Given the description of an element on the screen output the (x, y) to click on. 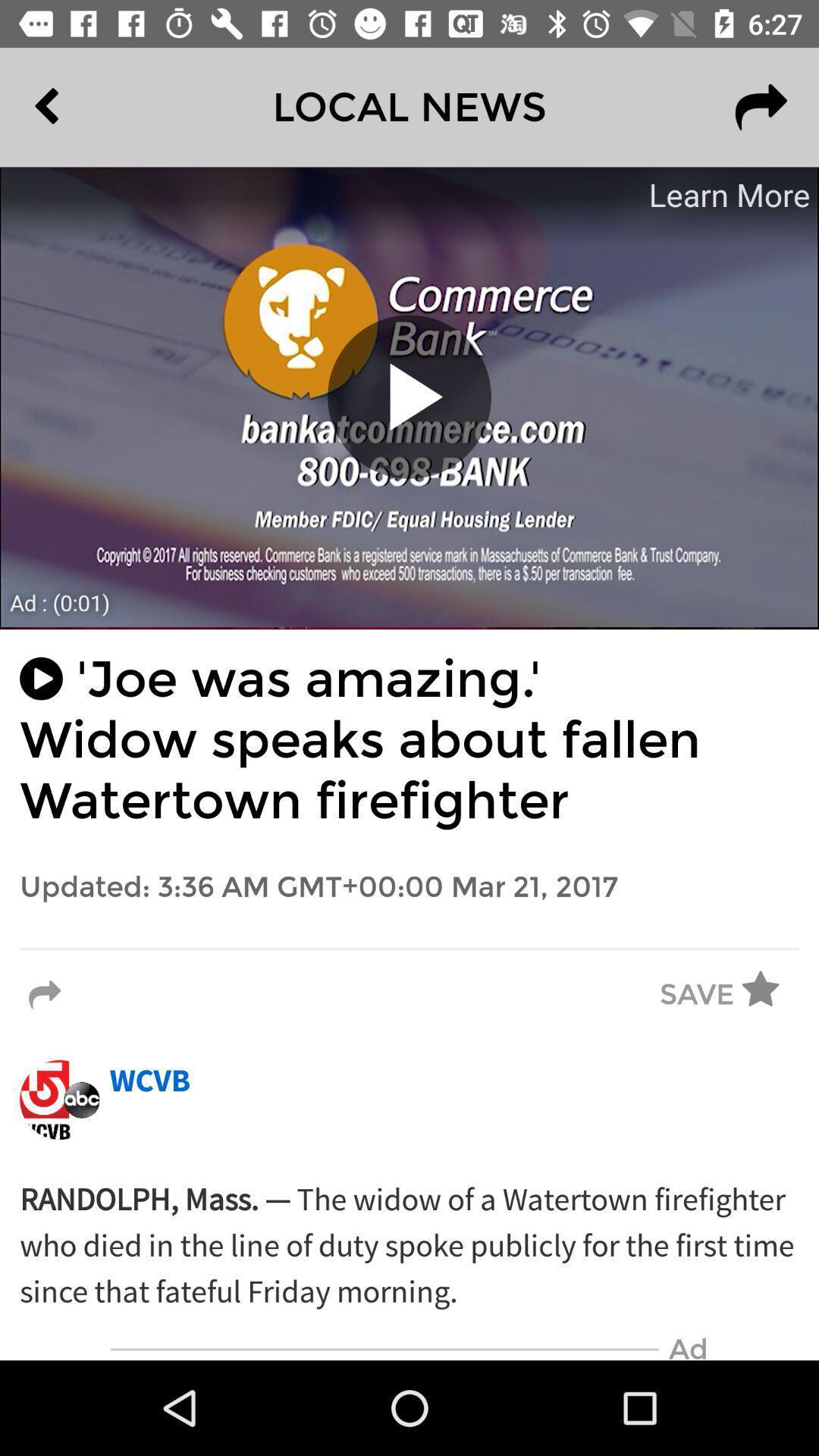
play the video (409, 397)
